Given the description of an element on the screen output the (x, y) to click on. 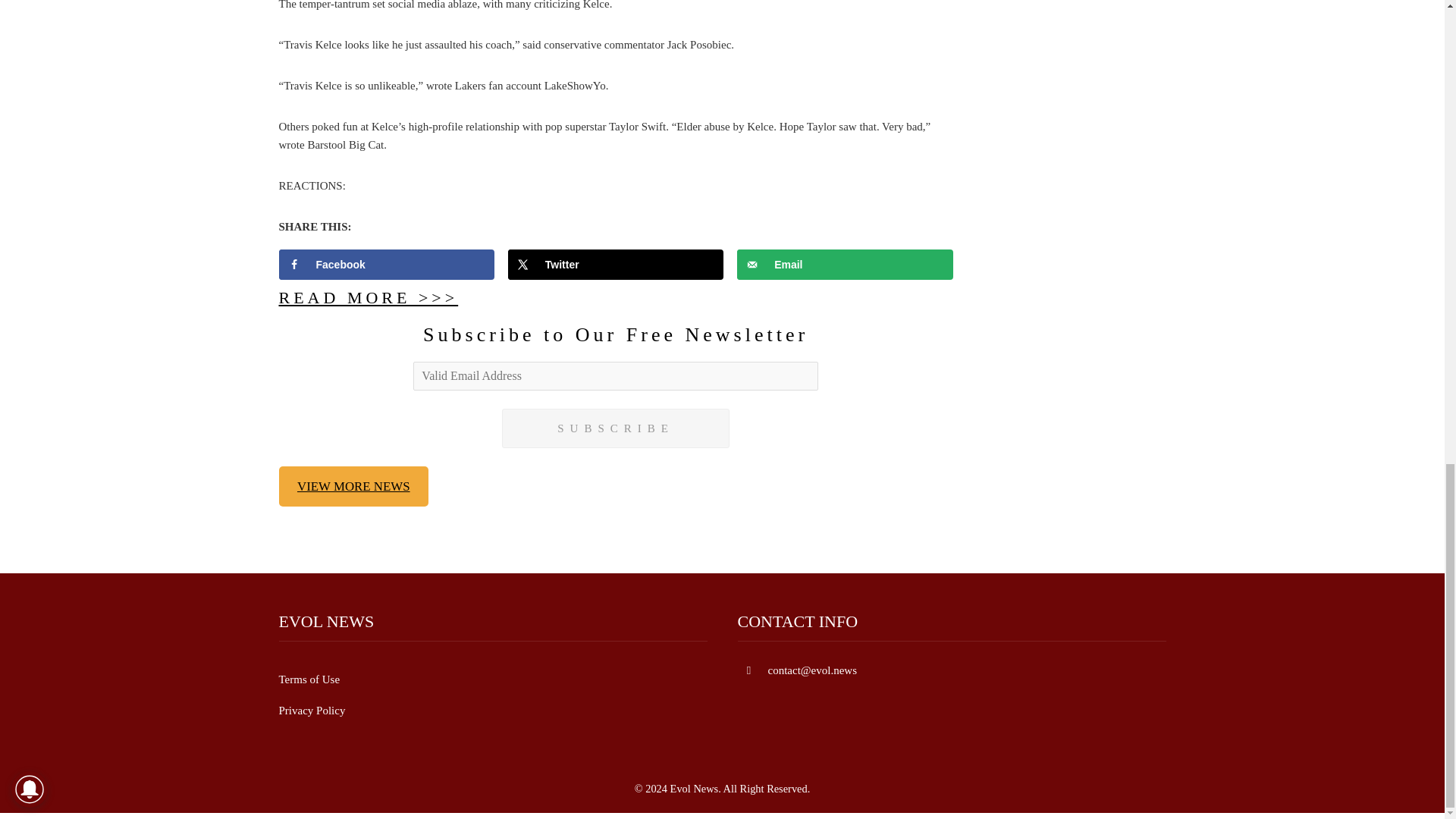
Terms of Use (309, 679)
Send over email (844, 264)
Facebook (387, 264)
Share on Facebook (387, 264)
Email (844, 264)
Twitter (615, 264)
Privacy Policy (312, 710)
Share on X (615, 264)
SUBSCRIBE (615, 427)
VIEW MORE NEWS (354, 486)
